Given the description of an element on the screen output the (x, y) to click on. 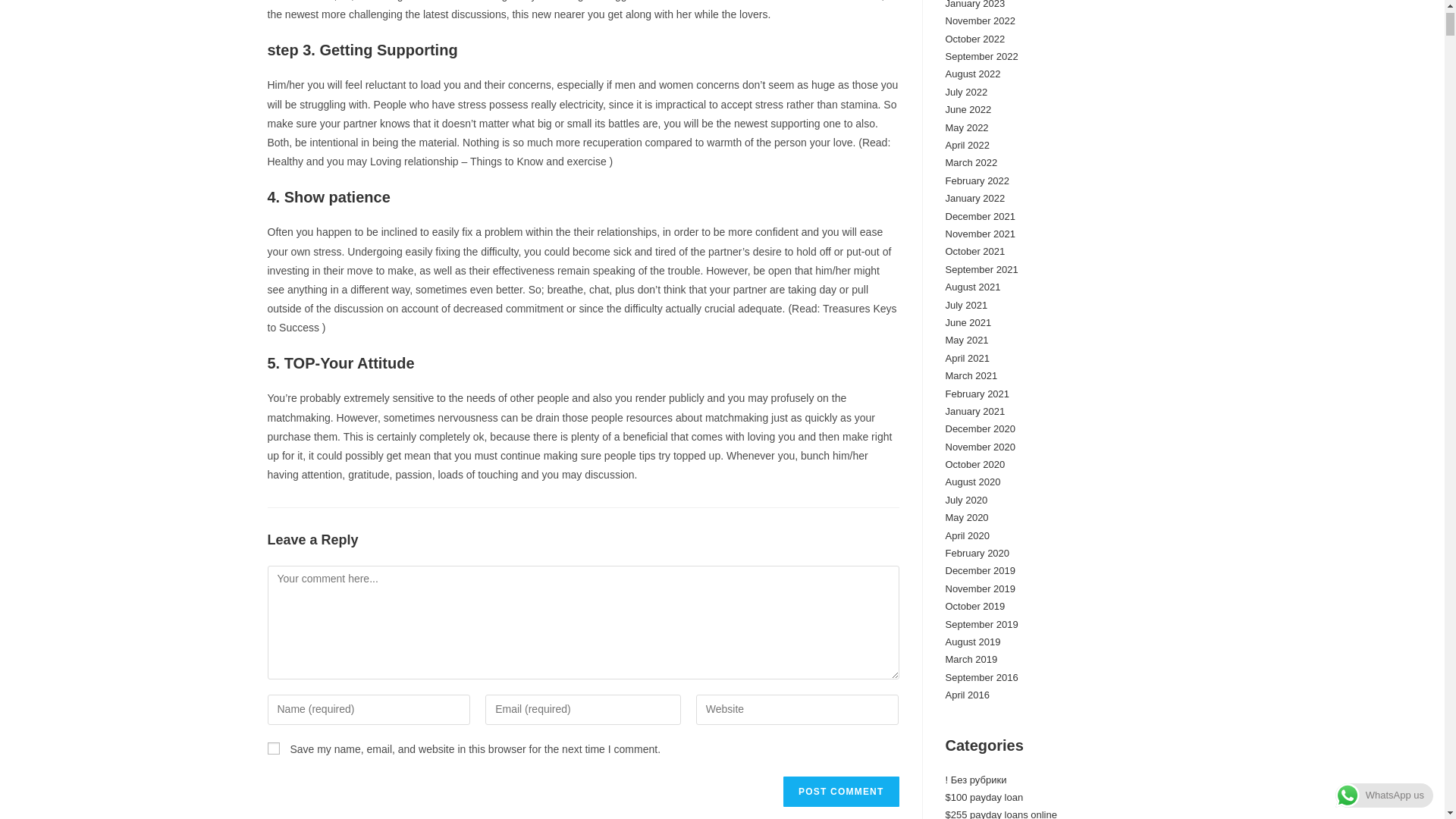
Post Comment (840, 791)
Post Comment (840, 791)
yes (272, 748)
